Given the description of an element on the screen output the (x, y) to click on. 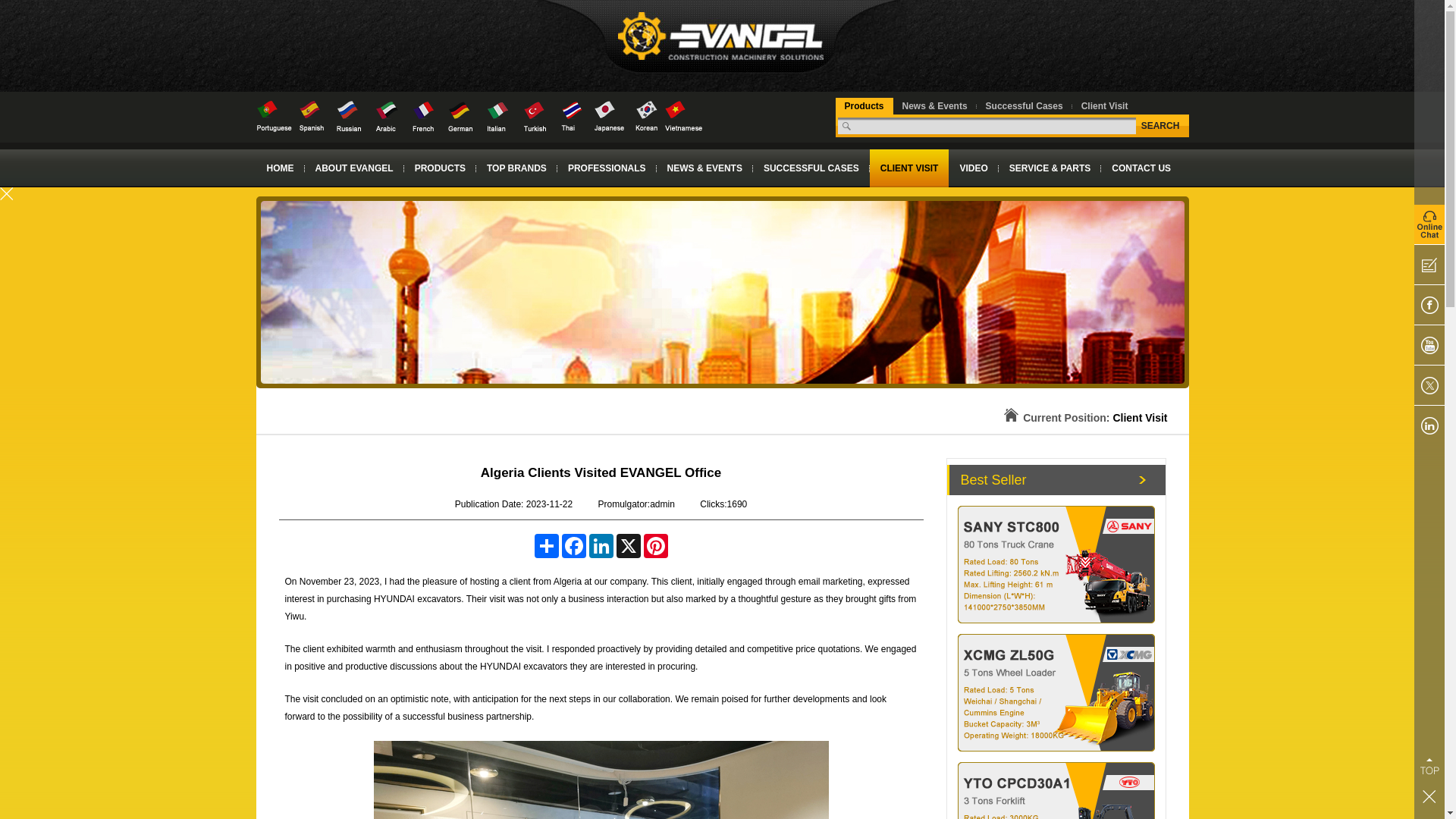
Vietnamese (682, 115)
Italian (497, 115)
Successful Cases (1023, 105)
TOP BRANDS (516, 168)
PRODUCTS (440, 168)
Russian (349, 115)
SUCCESSFUL CASES (810, 168)
SANY STC800 (1055, 564)
Korean (646, 115)
German (460, 115)
